Given the description of an element on the screen output the (x, y) to click on. 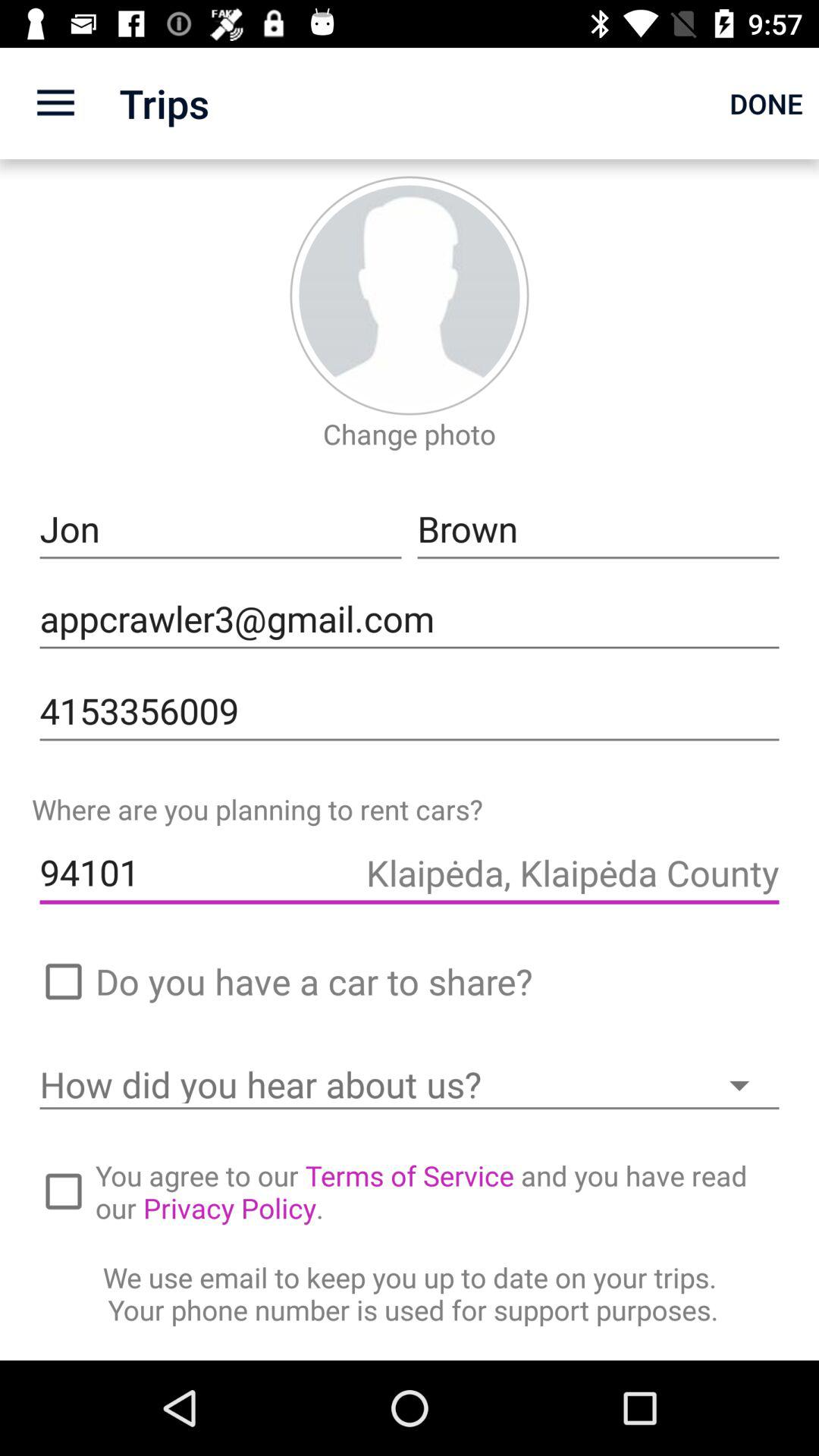
flip to the done item (766, 103)
